Given the description of an element on the screen output the (x, y) to click on. 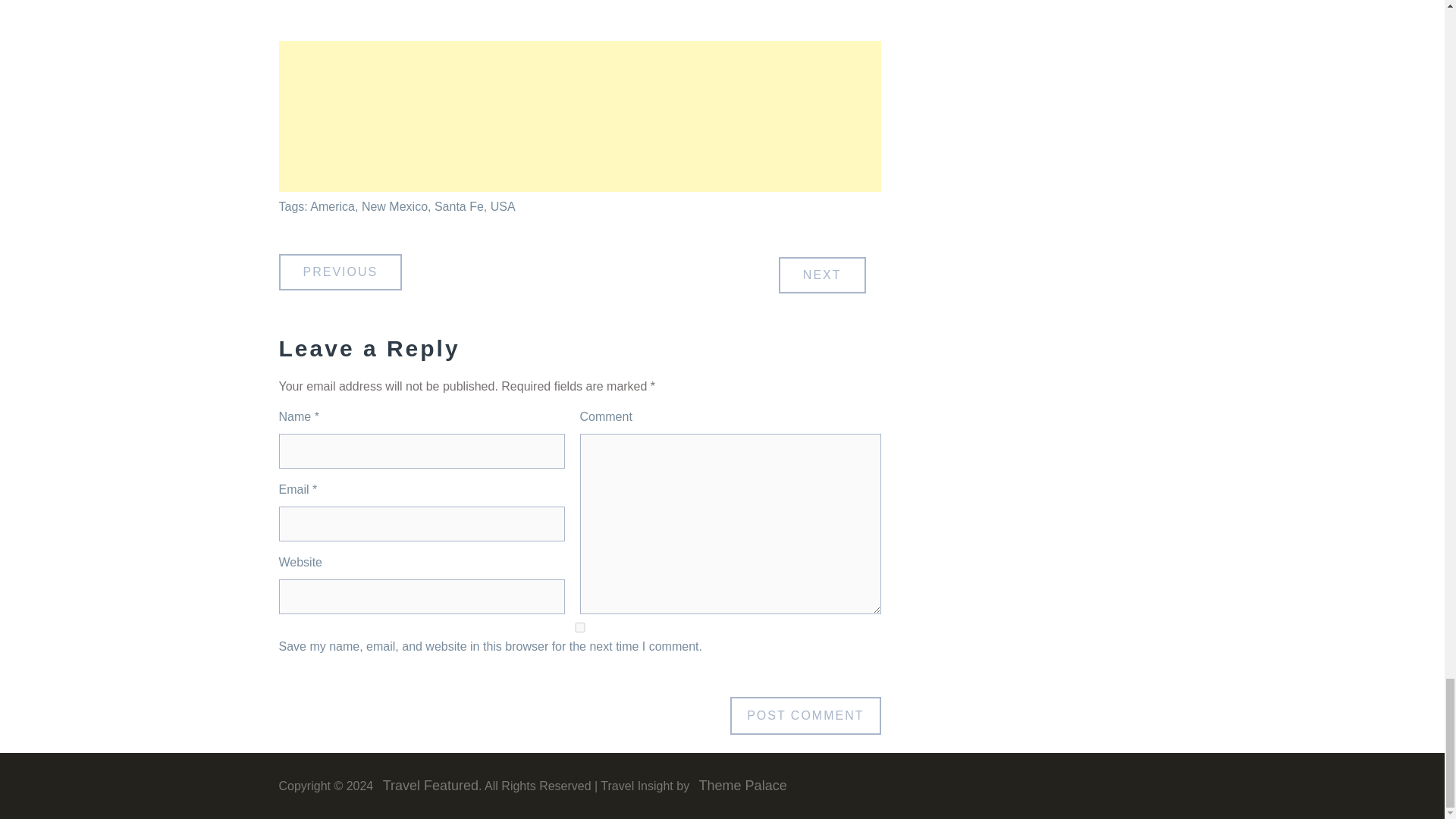
Post Comment (805, 715)
NEXT (822, 275)
Post Comment (805, 715)
USA (502, 205)
yes (579, 627)
PREVIOUS (341, 271)
Santa Fe (458, 205)
New Mexico (394, 205)
America (332, 205)
